Given the description of an element on the screen output the (x, y) to click on. 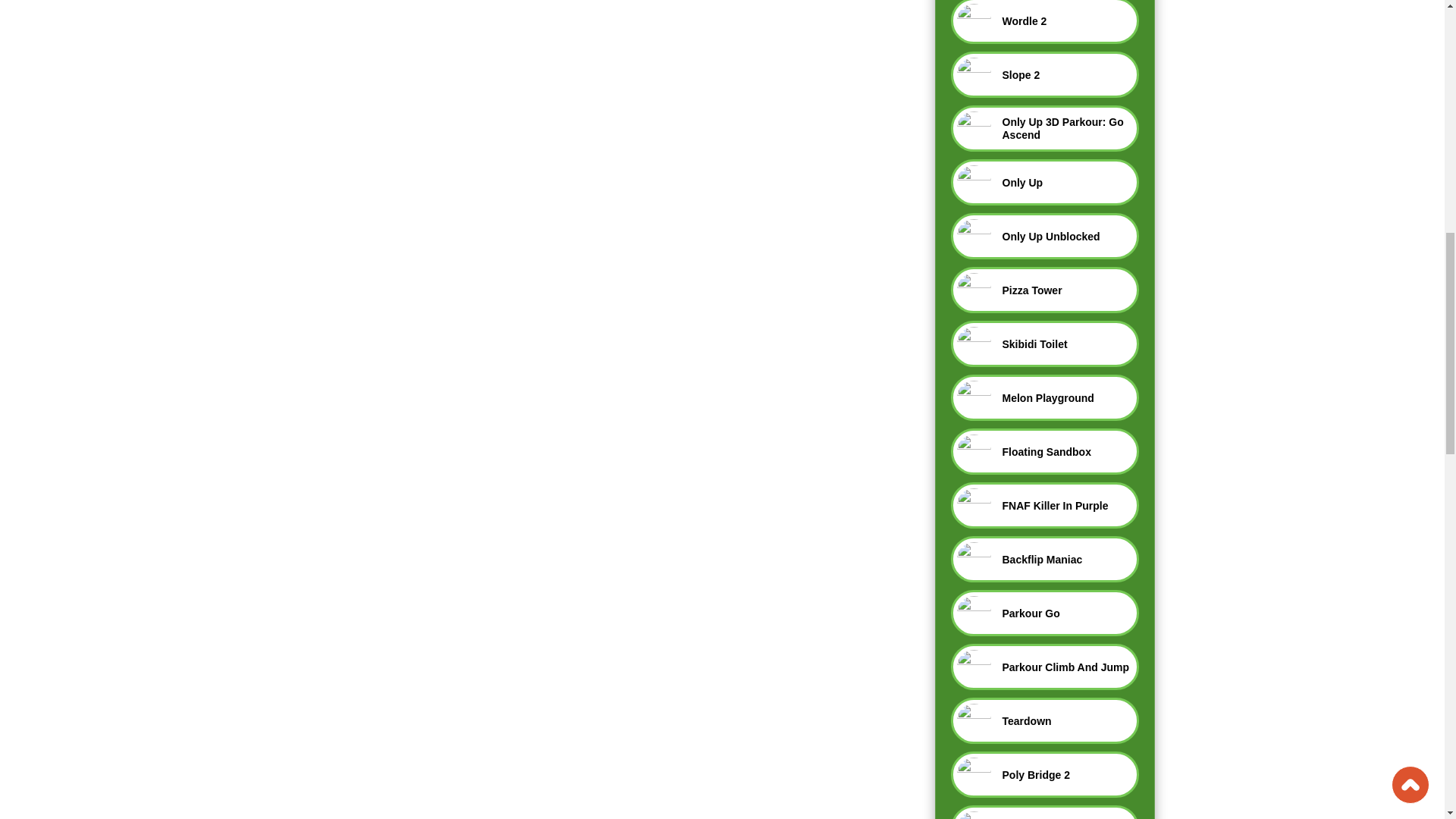
Only Up 3D Parkour: Go Ascend (1044, 128)
Wordle 2 (1044, 22)
Only Up Unblocked (1044, 235)
Only Up (1044, 181)
Slope 2 (1044, 74)
Only Up 3D Parkour: Go Ascend (1044, 128)
Skibidi Toilet (1044, 343)
FNAF Killer In Purple (1044, 505)
Wordle 2 (1044, 22)
Melon Playground (1044, 397)
